Given the description of an element on the screen output the (x, y) to click on. 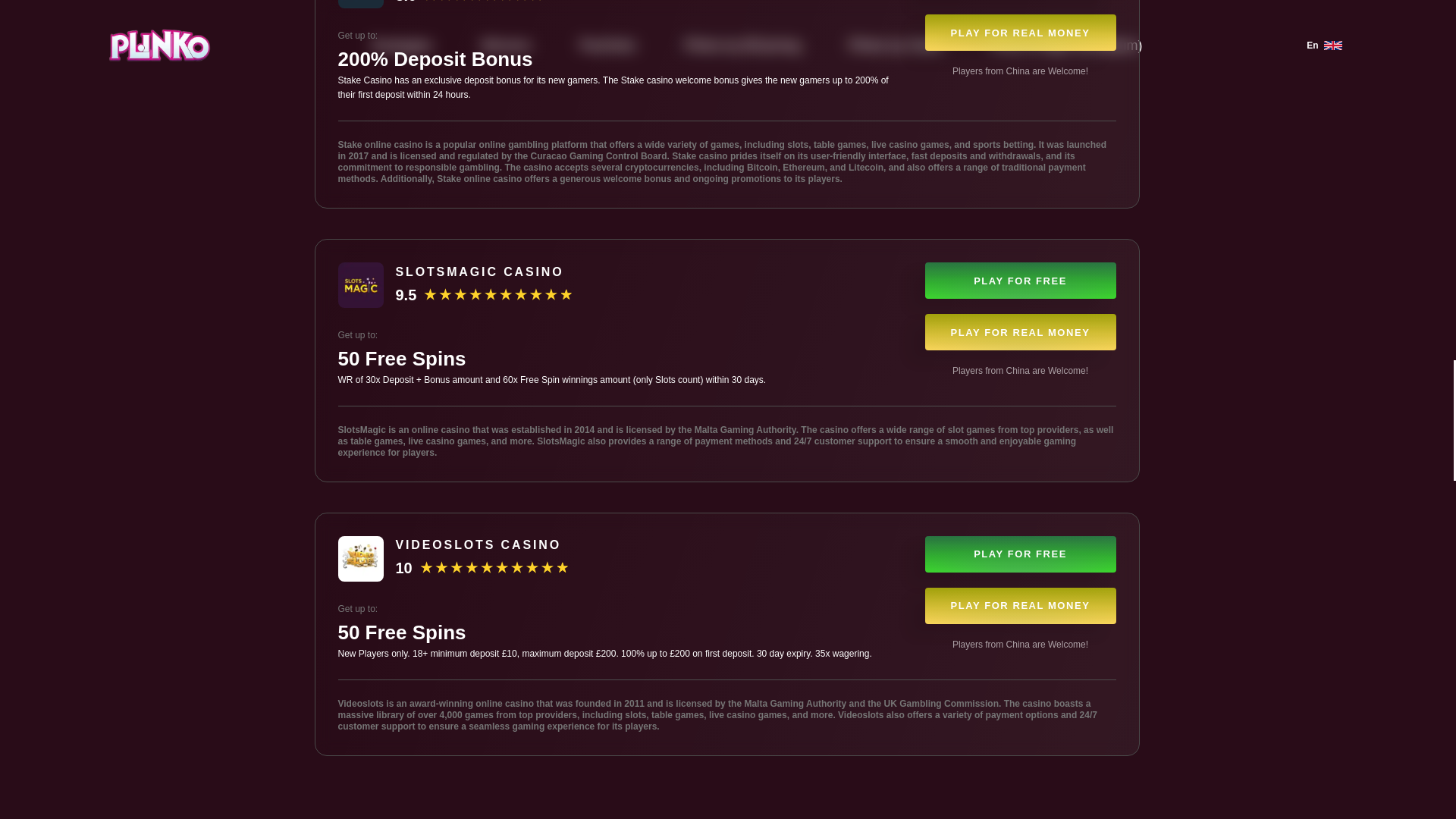
PLAY FOR REAL MONEY (1020, 32)
PLAY FOR REAL MONEY (1020, 606)
Videoslots Casino (360, 558)
Stake Casino Logo (360, 4)
PLAY FOR FREE (1020, 554)
PLAY FOR FREE (1020, 280)
SlotsMagic Casino (360, 284)
PLAY FOR REAL MONEY (1020, 331)
